Given the description of an element on the screen output the (x, y) to click on. 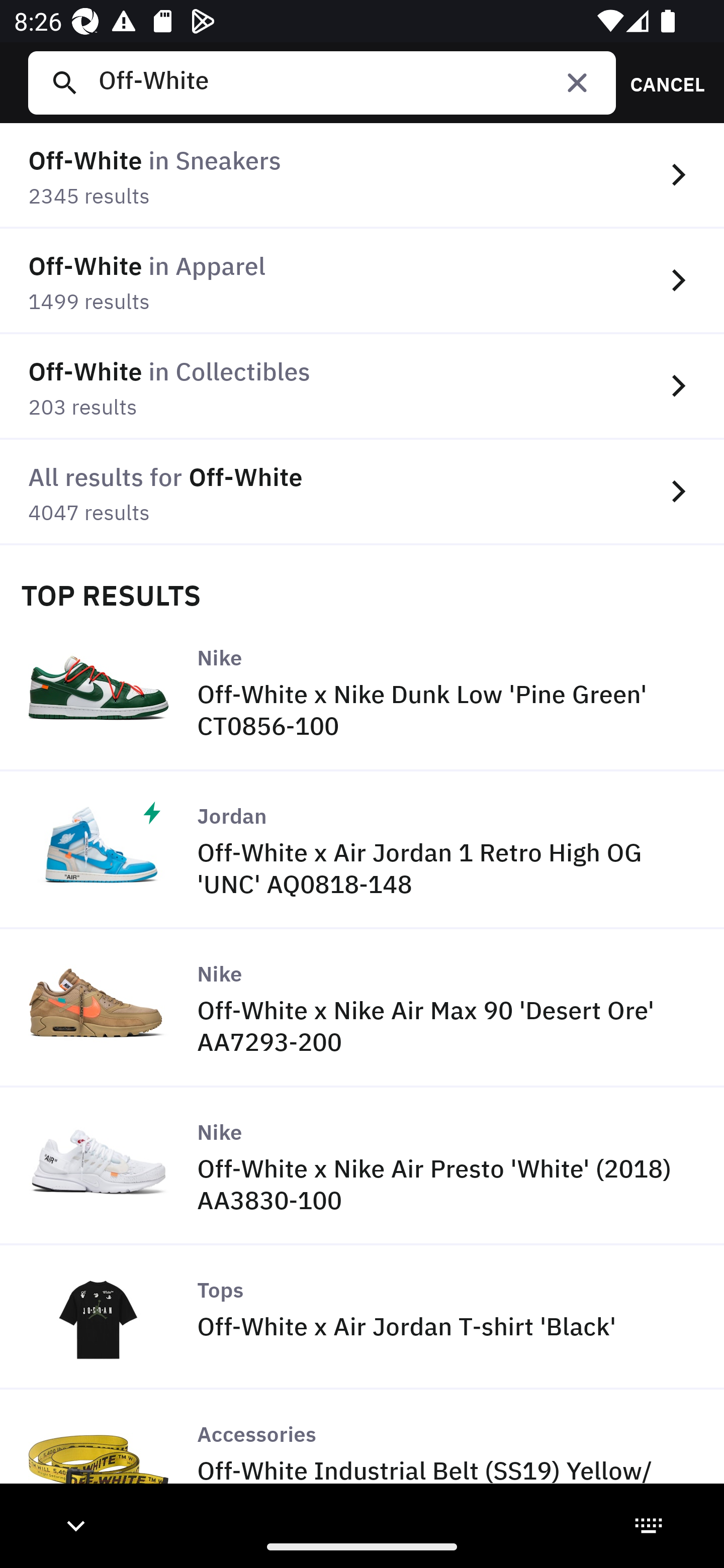
CANCEL (660, 82)
Off-White (349, 82)
 (577, 82)
Off-White  in Sneakers 2345 results  (362, 175)
Off-White  in Apparel 1499 results  (362, 280)
Off-White  in Collectibles 203 results  (362, 386)
All results for  Off-White 4047 results  (362, 492)
Tops Off‑White x Air Jordan T‑shirt 'Black' (362, 1316)
